Given the description of an element on the screen output the (x, y) to click on. 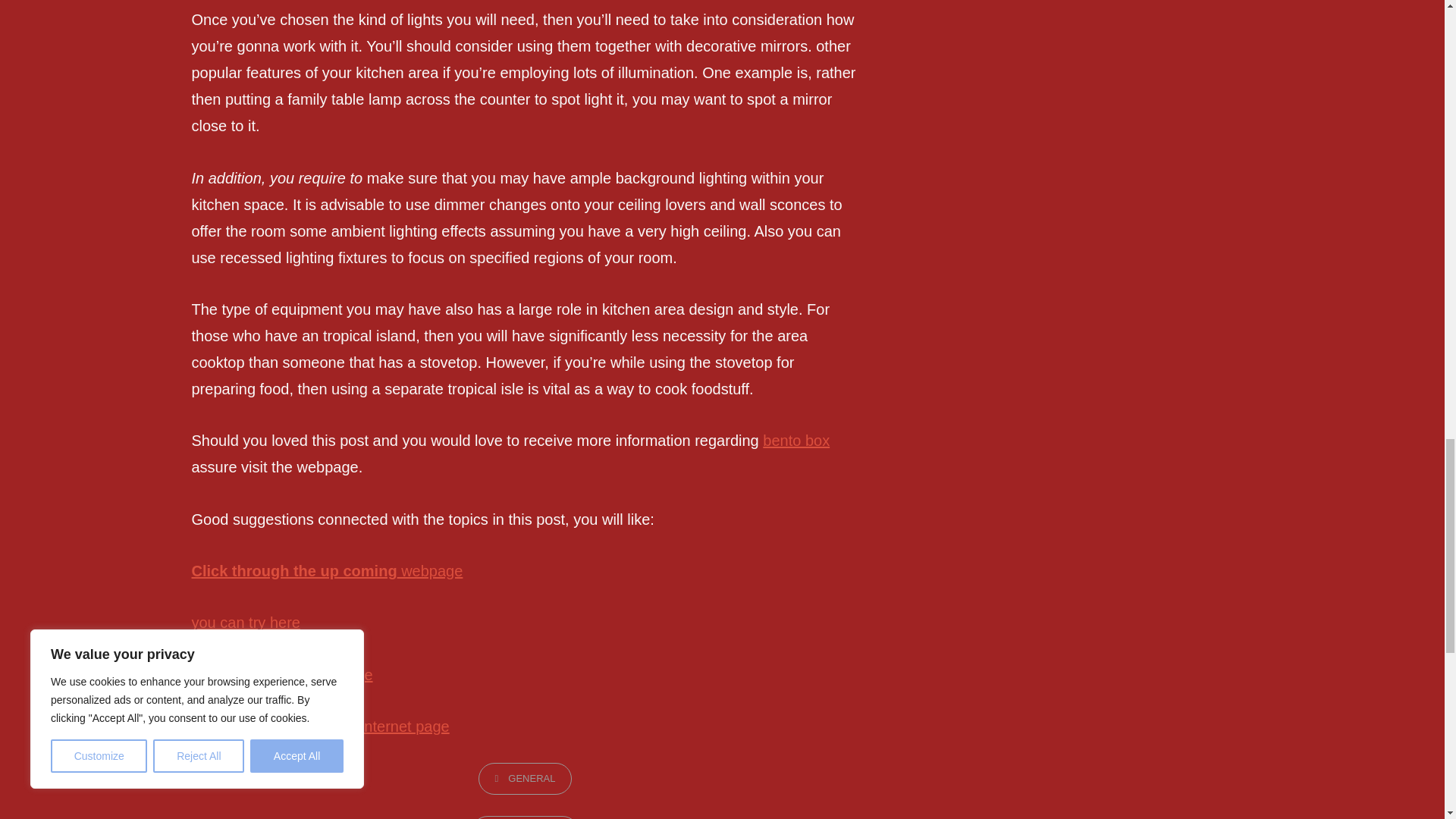
bento box (795, 440)
simply click the following internet page (319, 726)
Click through the up coming webpage (326, 570)
GUIDELINES (524, 817)
just click the next webpage (281, 674)
you can try here (244, 622)
GENERAL (525, 778)
